Given the description of an element on the screen output the (x, y) to click on. 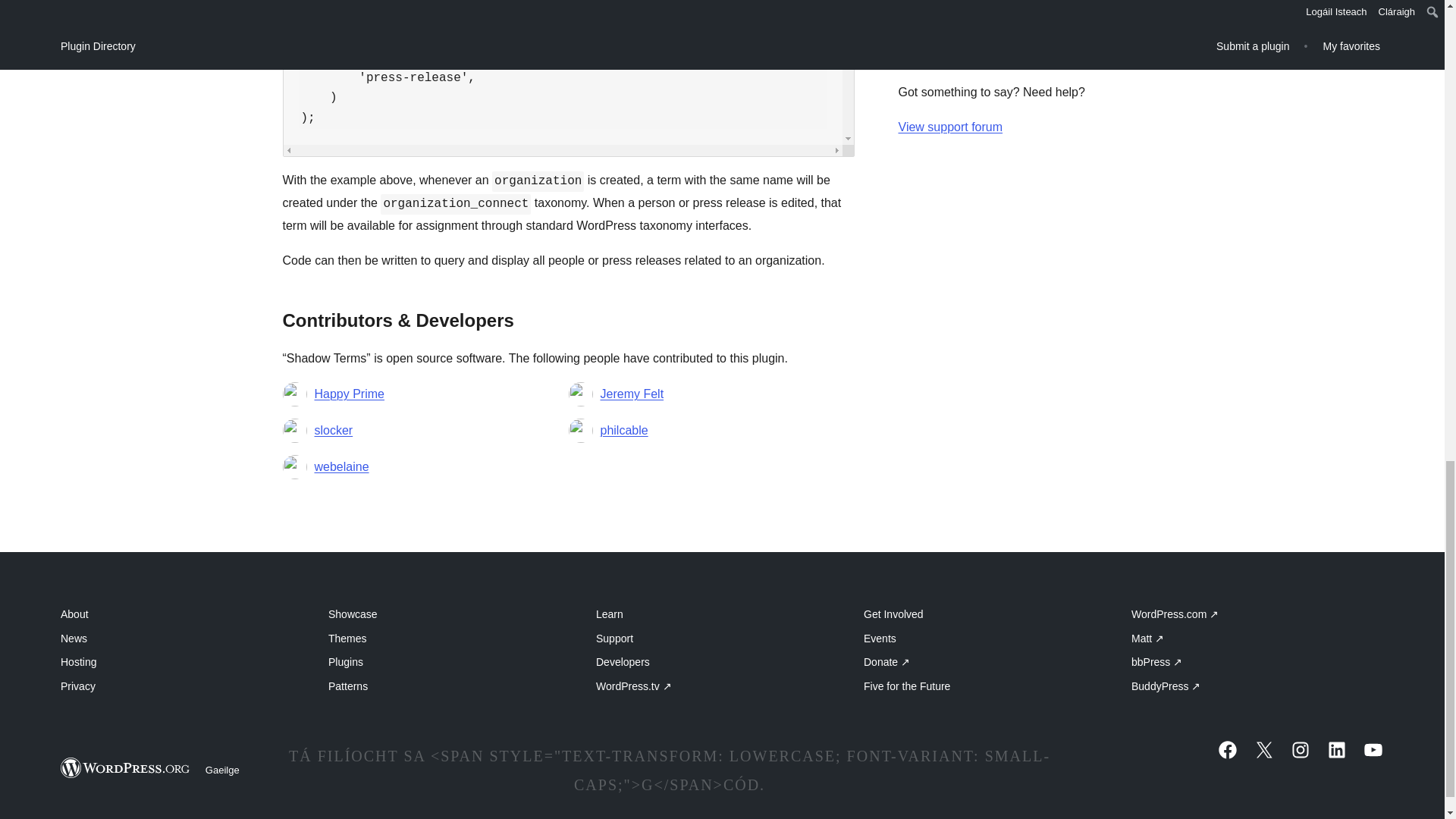
slocker (333, 430)
Happy Prime (349, 394)
WordPress.org (125, 767)
Log in to WordPress.org (966, 2)
philcable (623, 430)
webelaine (341, 466)
Jeremy Felt (631, 394)
